Given the description of an element on the screen output the (x, y) to click on. 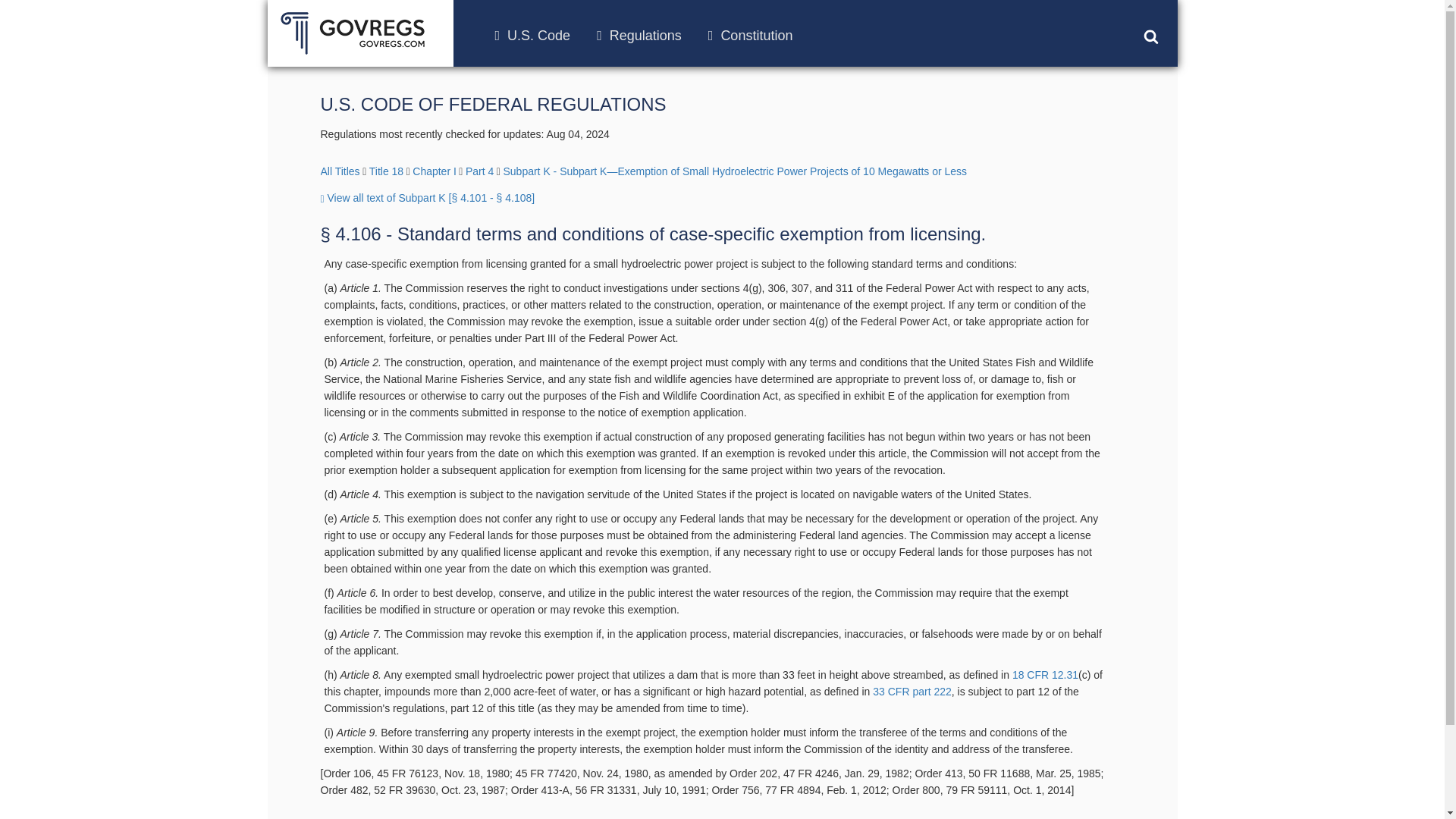
Regulations (638, 35)
Constitution (750, 35)
Chapter I (434, 171)
Part 4 (479, 171)
U.S. Code (532, 35)
33 CFR part 222 (912, 691)
All Titles (339, 171)
18 CFR 12.31 (1044, 674)
Title 18 (386, 171)
